Given the description of an element on the screen output the (x, y) to click on. 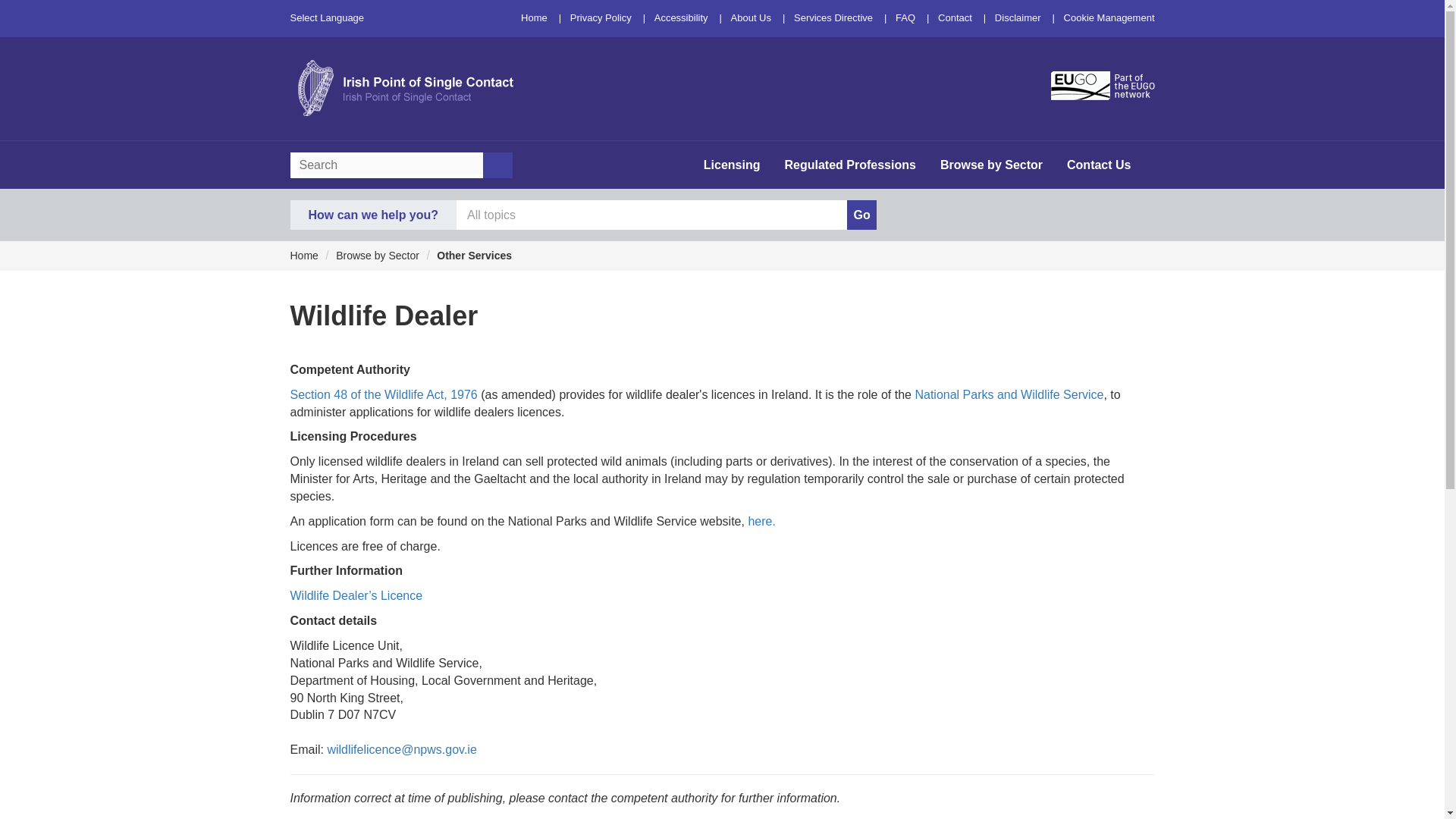
About Us (750, 17)
Go (861, 214)
Disclaimer (1017, 17)
All topics (652, 215)
Home (534, 17)
Cookie Management (1109, 17)
FAQ (905, 17)
Privacy Policy (600, 17)
Contact Us (1098, 164)
Accessibility (680, 17)
